Given the description of an element on the screen output the (x, y) to click on. 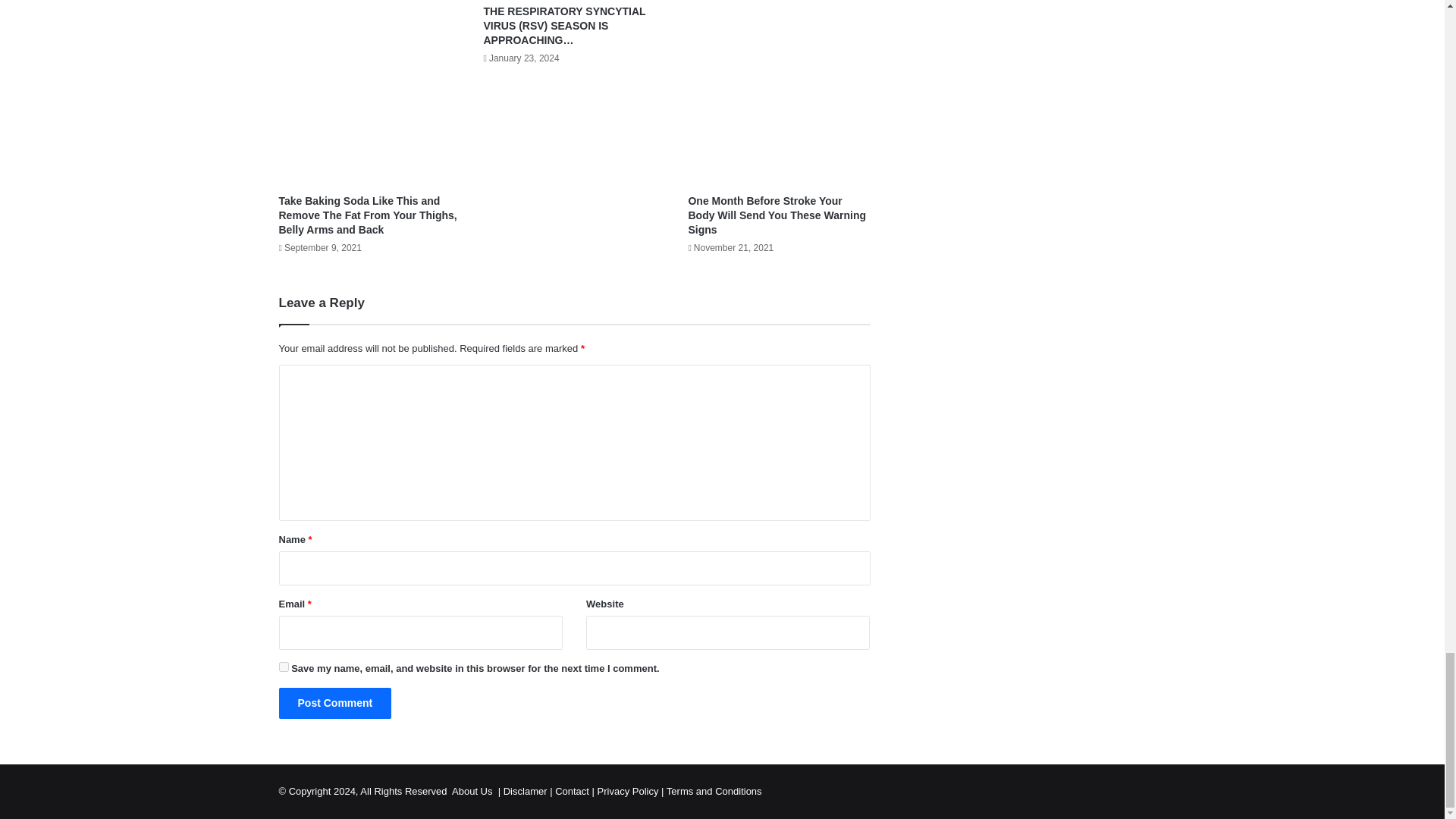
Post Comment (335, 703)
Post Comment (335, 703)
Contact (571, 790)
Disclamer (525, 790)
Privacy Policy (627, 790)
yes (283, 666)
Terms and Conditions (713, 790)
About Us  (473, 790)
